Given the description of an element on the screen output the (x, y) to click on. 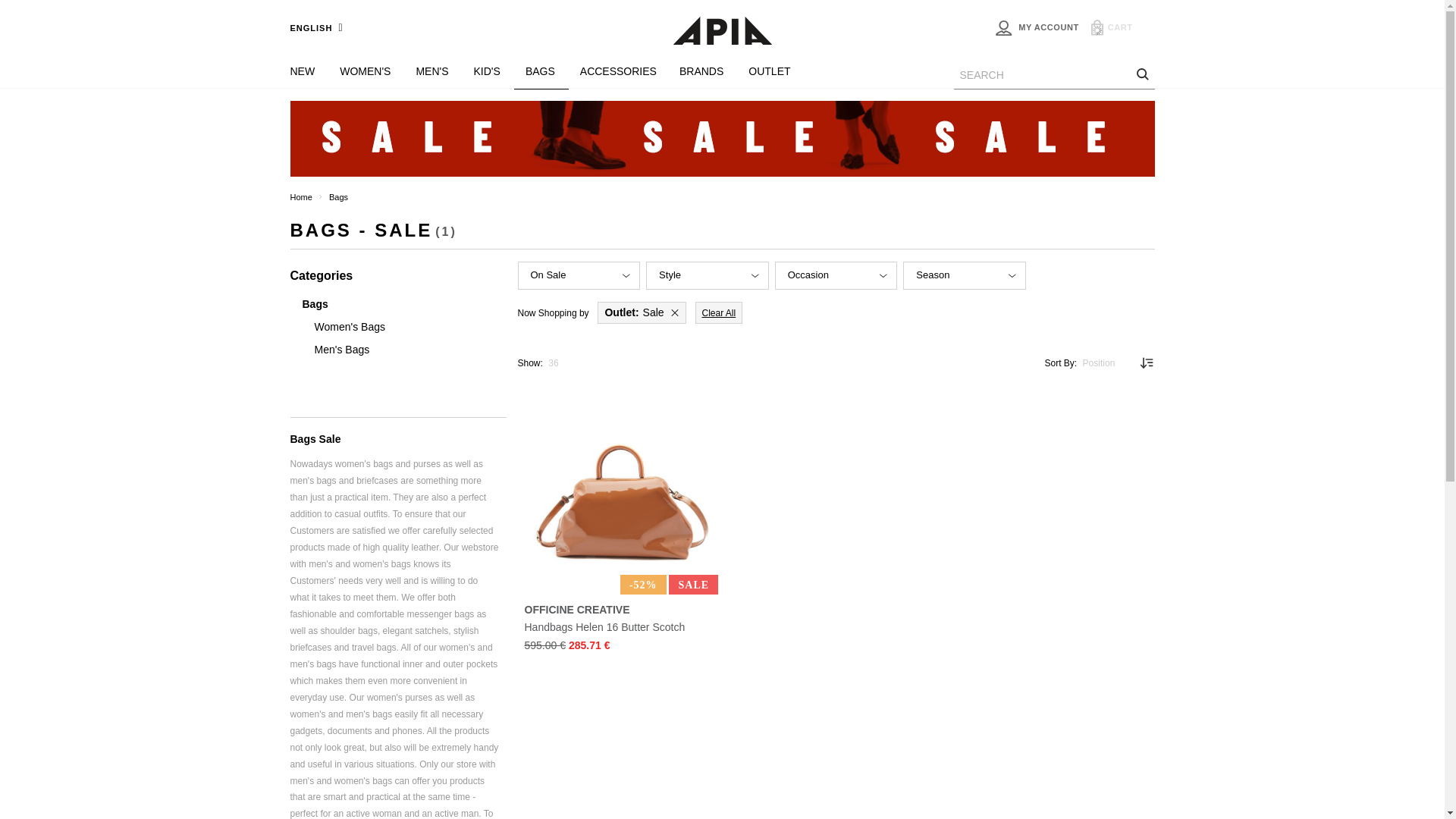
CART (1119, 27)
Loading... (1097, 30)
Apia - Web store with luxurious shoes for women and men (721, 30)
Cart (1119, 27)
Go to Home Page (300, 196)
NEW (309, 72)
Apia - Web store with luxurious shoes for women and men (721, 32)
